Given the description of an element on the screen output the (x, y) to click on. 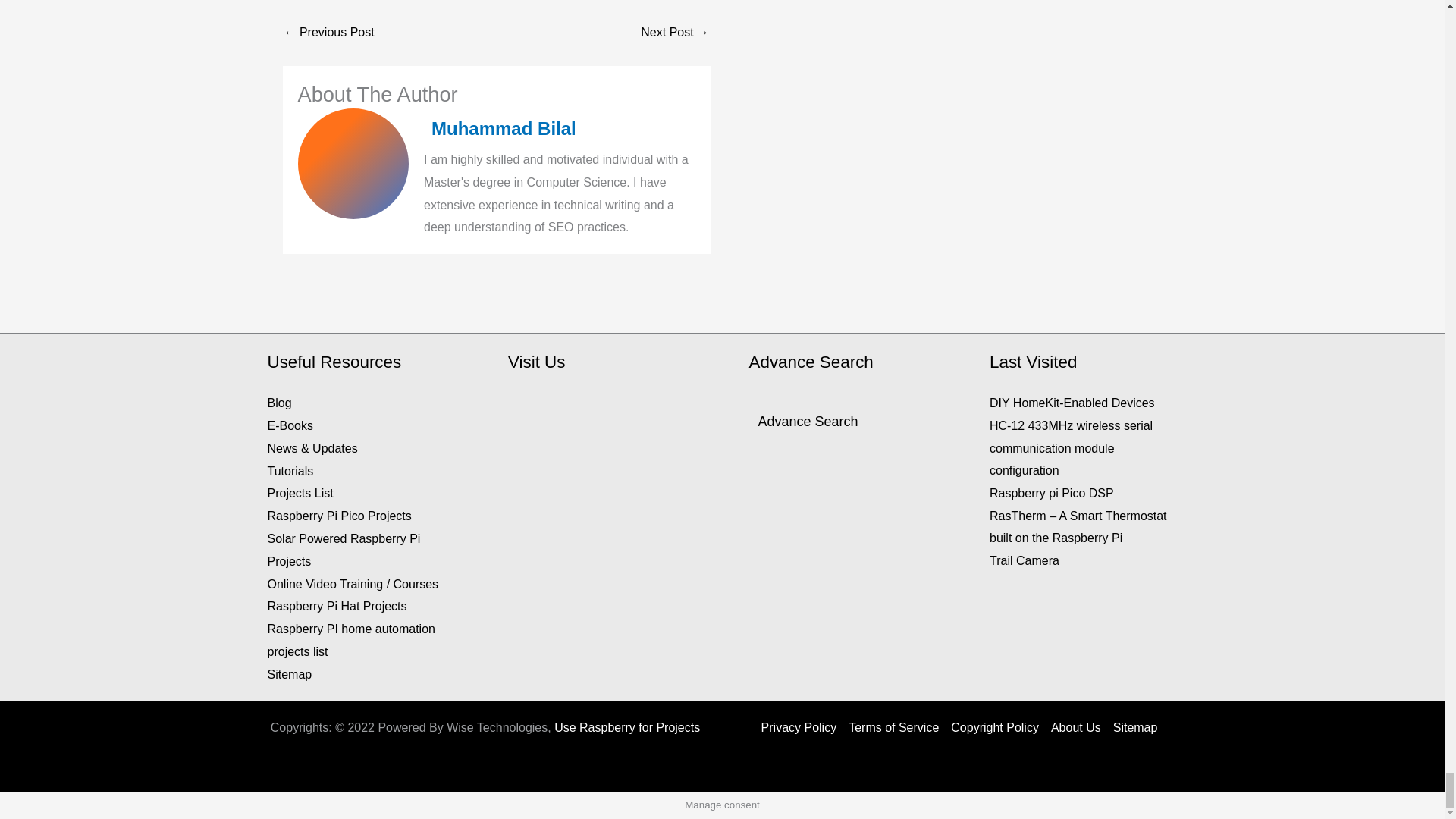
DESIGNING A LORA GATEWAY DURING A PART SHORTAGE (674, 32)
